Given the description of an element on the screen output the (x, y) to click on. 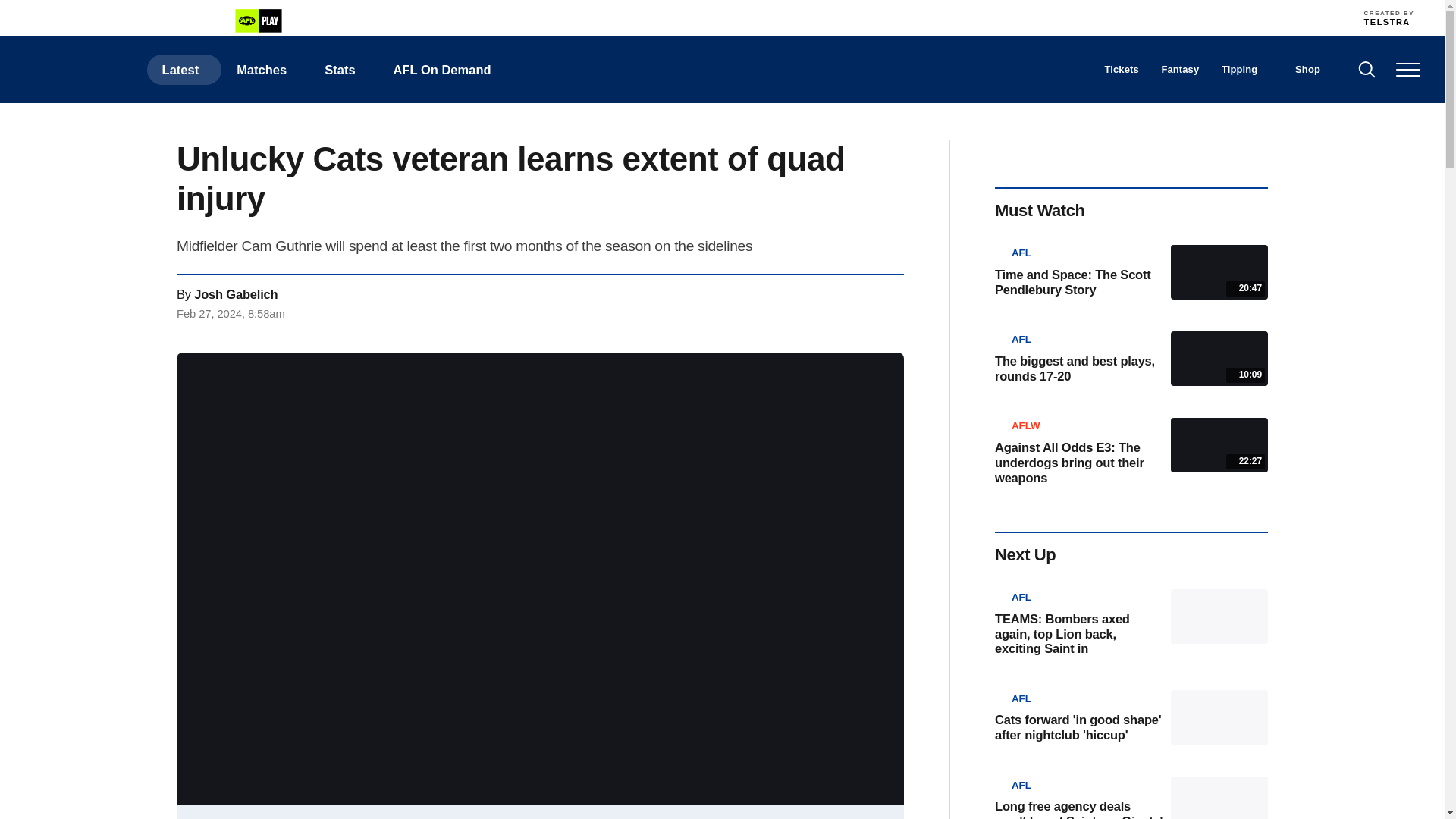
St Kilda (1004, 17)
West Coast Eagles (1071, 17)
Adelaide Crows (537, 17)
Matches (264, 69)
Brisbane (571, 17)
Geelong (737, 17)
GWS Giants (804, 17)
Essendon (670, 17)
Hawthorn (837, 17)
Port Adelaide (938, 17)
AFL (55, 21)
Footscray (1104, 17)
AFLW (155, 21)
Geelong (737, 17)
AFL Play (258, 20)
